Given the description of an element on the screen output the (x, y) to click on. 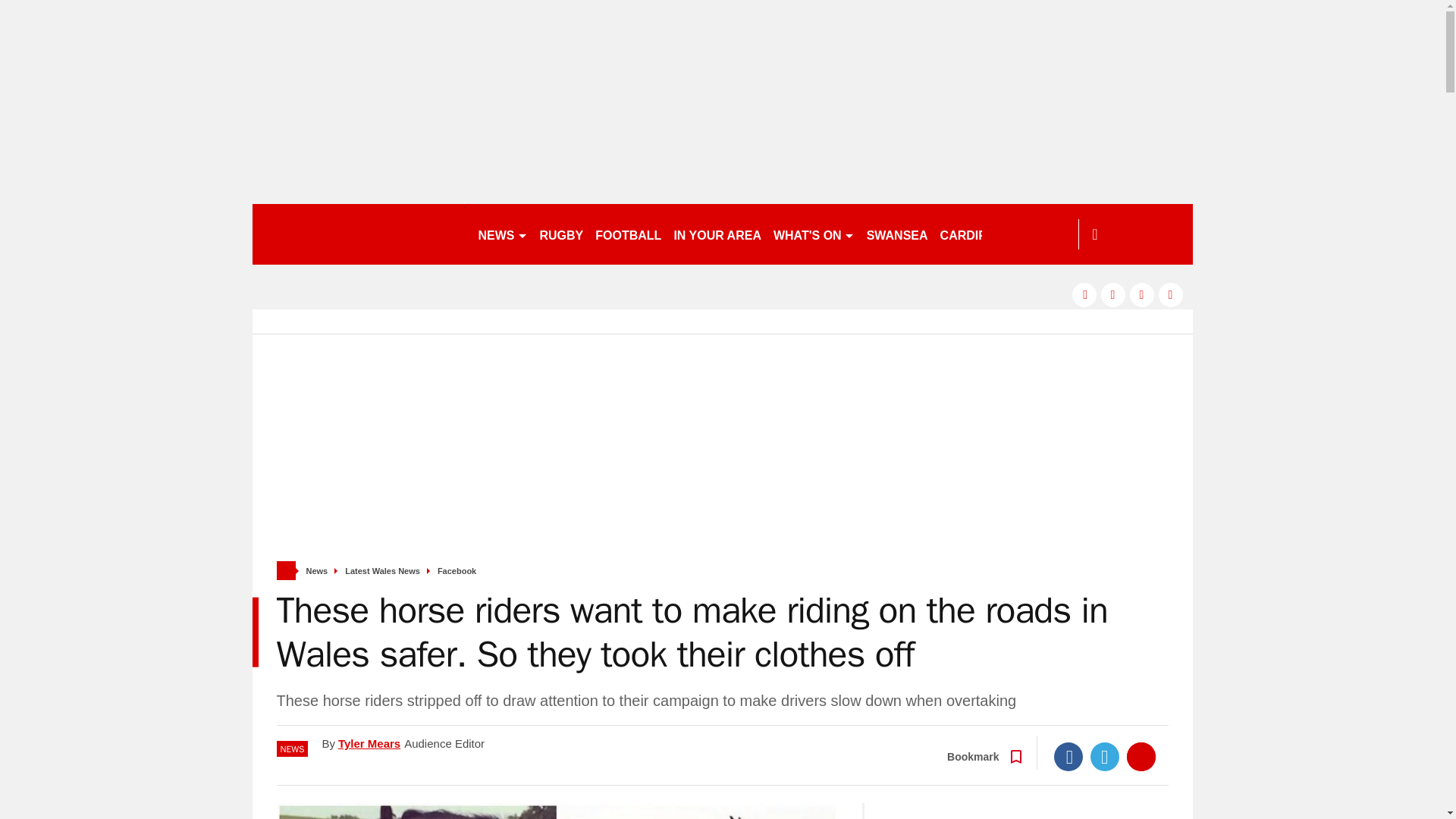
WHAT'S ON (813, 233)
facebook (1083, 294)
RUGBY (561, 233)
instagram (1170, 294)
NEWS (501, 233)
SWANSEA (897, 233)
Twitter (1104, 756)
pinterest (1141, 294)
Facebook (1068, 756)
FOOTBALL (627, 233)
twitter (1112, 294)
walesonline (357, 233)
IN YOUR AREA (716, 233)
